Given the description of an element on the screen output the (x, y) to click on. 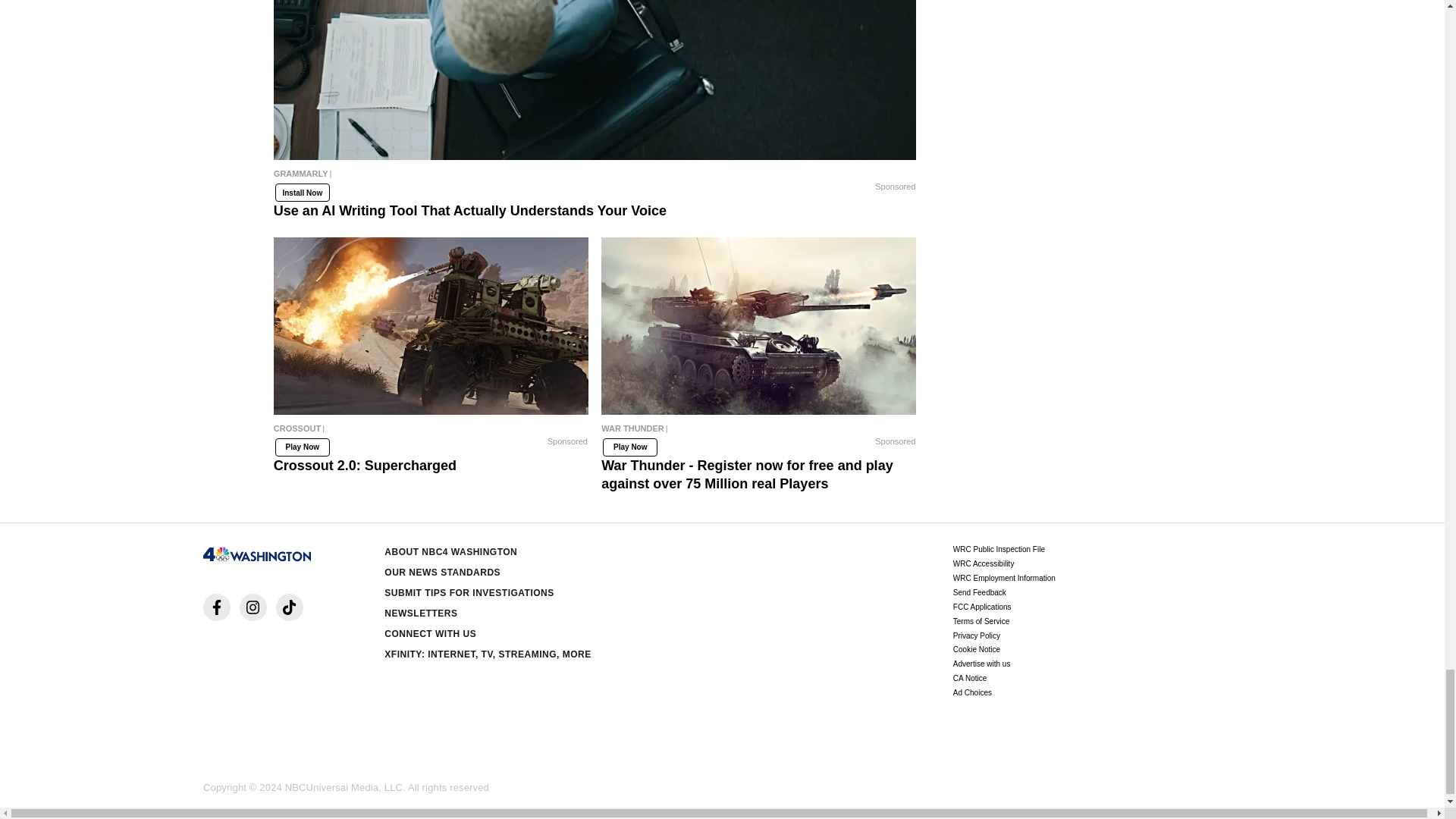
Use an AI Writing Tool That Actually Understands Your Voice (595, 176)
Crossout 2.0: Supercharged (430, 325)
Use an AI Writing Tool That Actually Understands Your Voice (595, 79)
Crossout 2.0: Supercharged (430, 431)
